Given the description of an element on the screen output the (x, y) to click on. 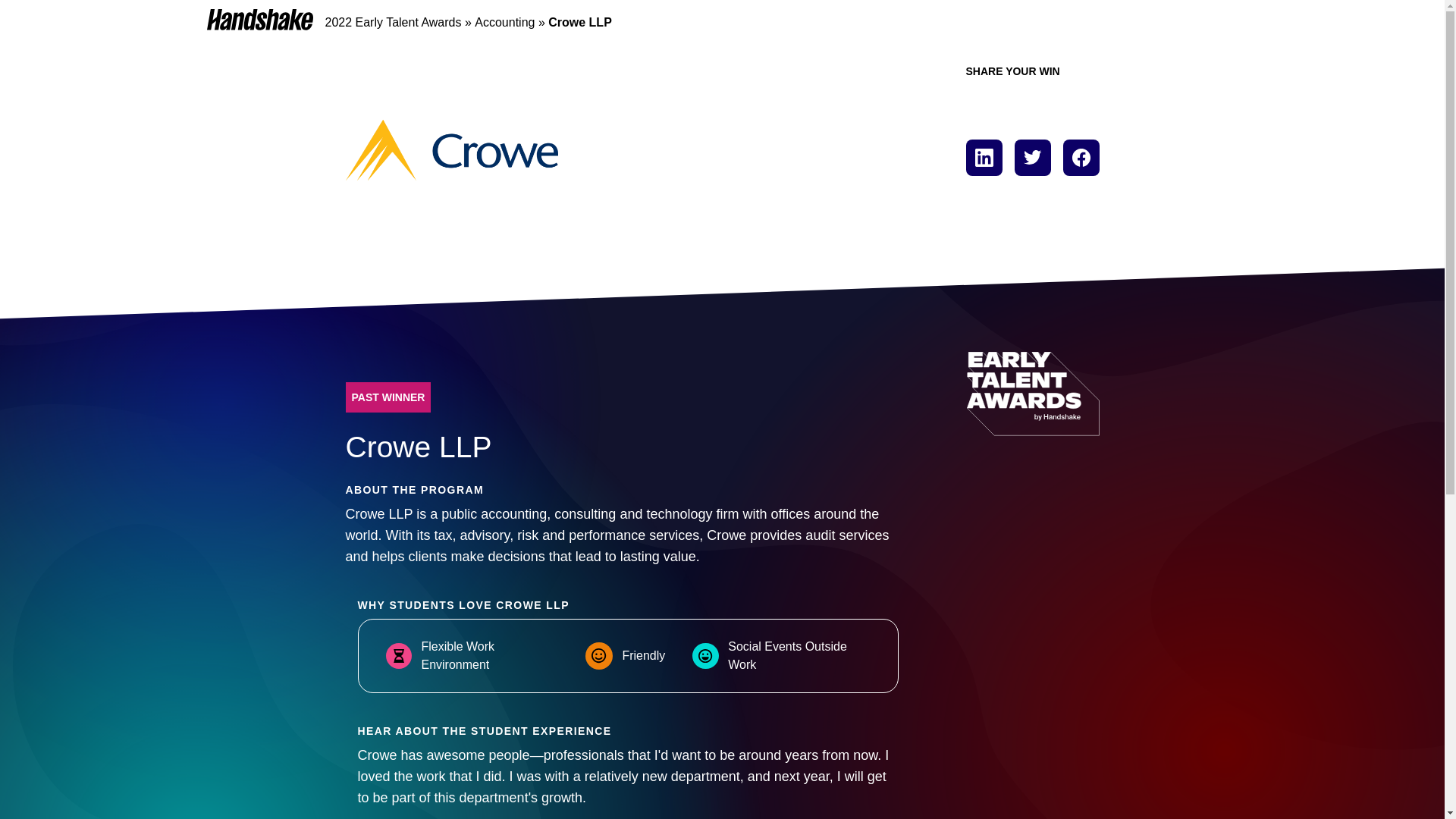
2022 Early Talent Awards (392, 21)
Homepage (259, 19)
Accounting (504, 21)
